Given the description of an element on the screen output the (x, y) to click on. 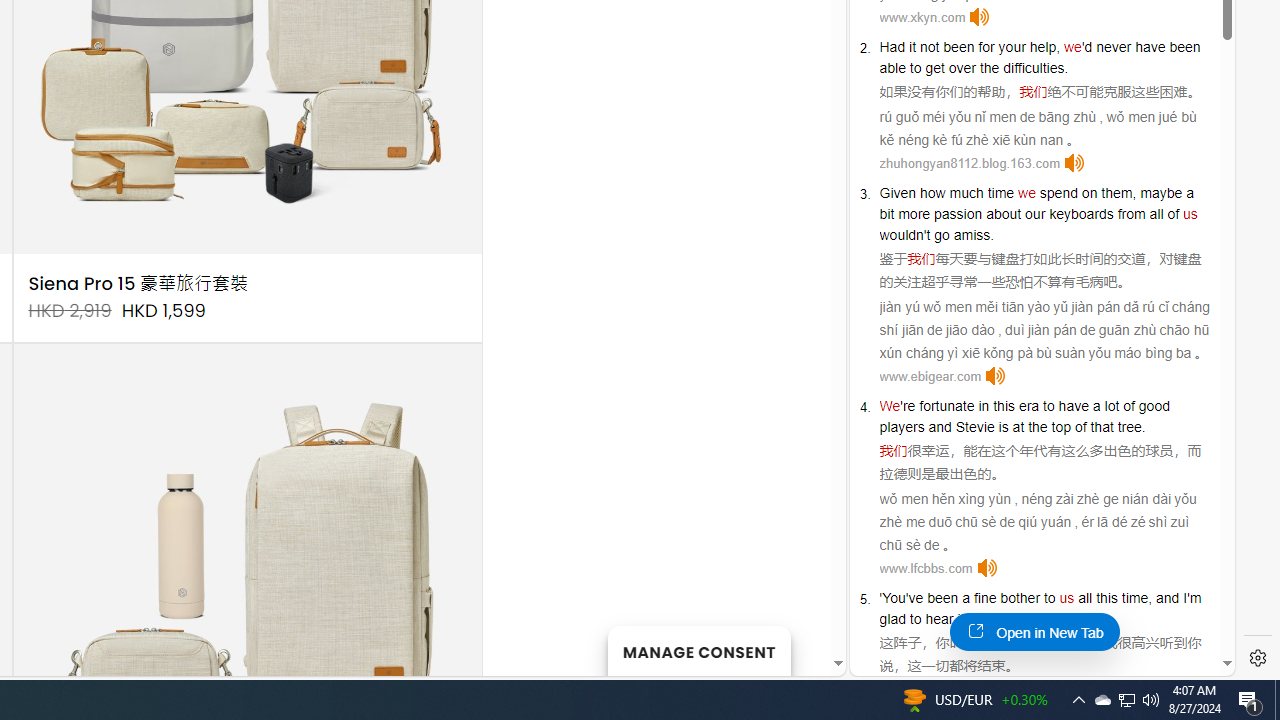
over (962, 67)
www.xkyn.com (922, 17)
keyboards (1081, 213)
'm (1193, 597)
in (983, 405)
. (1060, 619)
Given (897, 192)
